Given the description of an element on the screen output the (x, y) to click on. 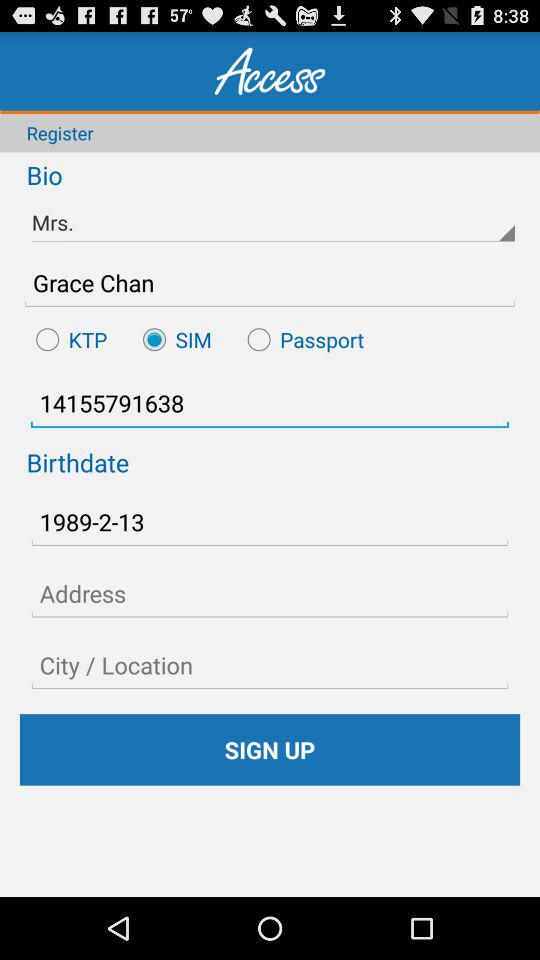
insert city/location (269, 665)
